Given the description of an element on the screen output the (x, y) to click on. 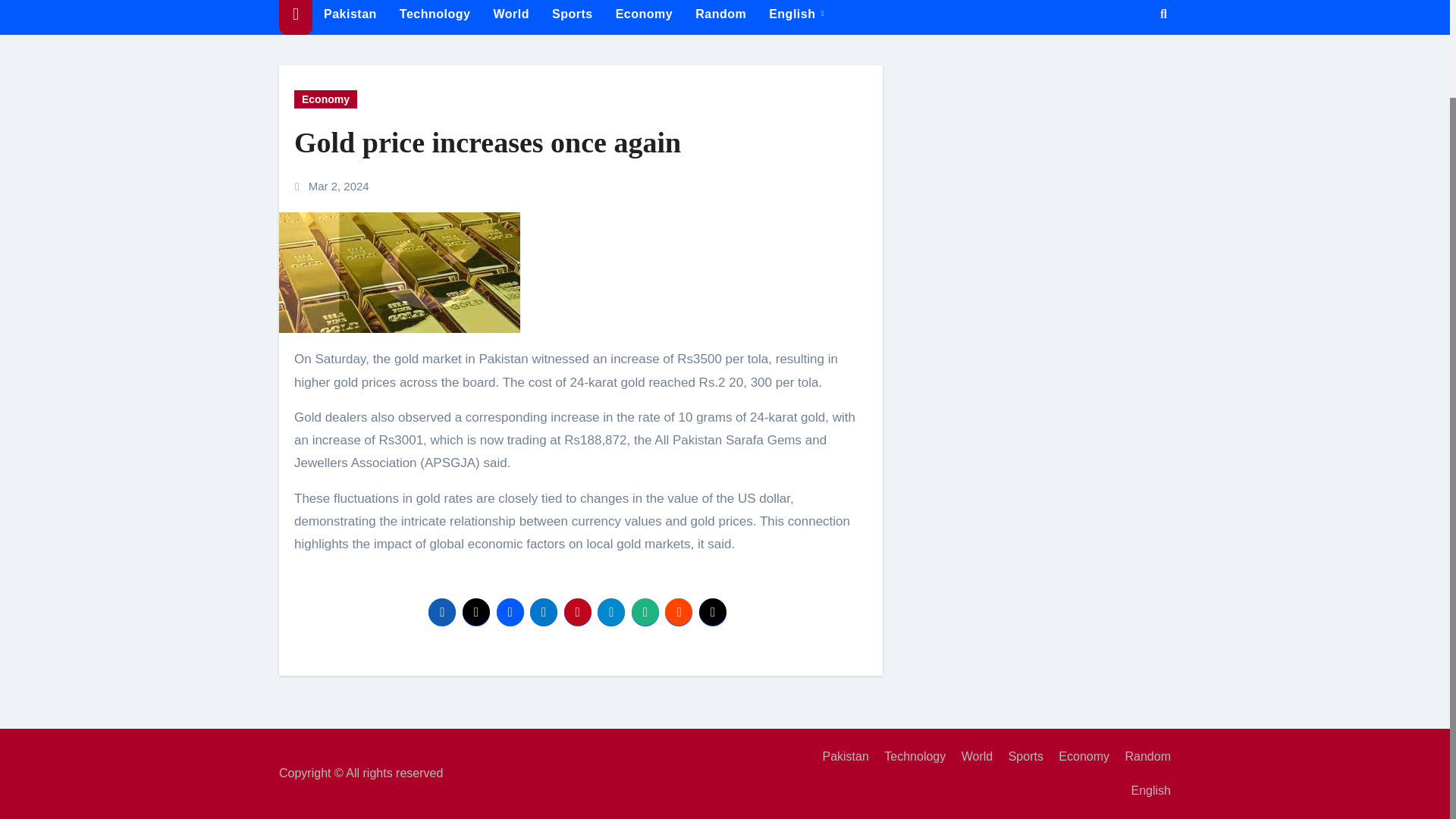
Sports (1019, 756)
Economy (325, 99)
Economy (644, 17)
Random (1141, 756)
Pakistan (350, 17)
Economy (1077, 756)
World (970, 756)
Pakistan (350, 17)
World (970, 756)
Sports (1019, 756)
Sports (572, 17)
Technology (434, 17)
Technology (434, 17)
Economy (644, 17)
World (510, 17)
